Given the description of an element on the screen output the (x, y) to click on. 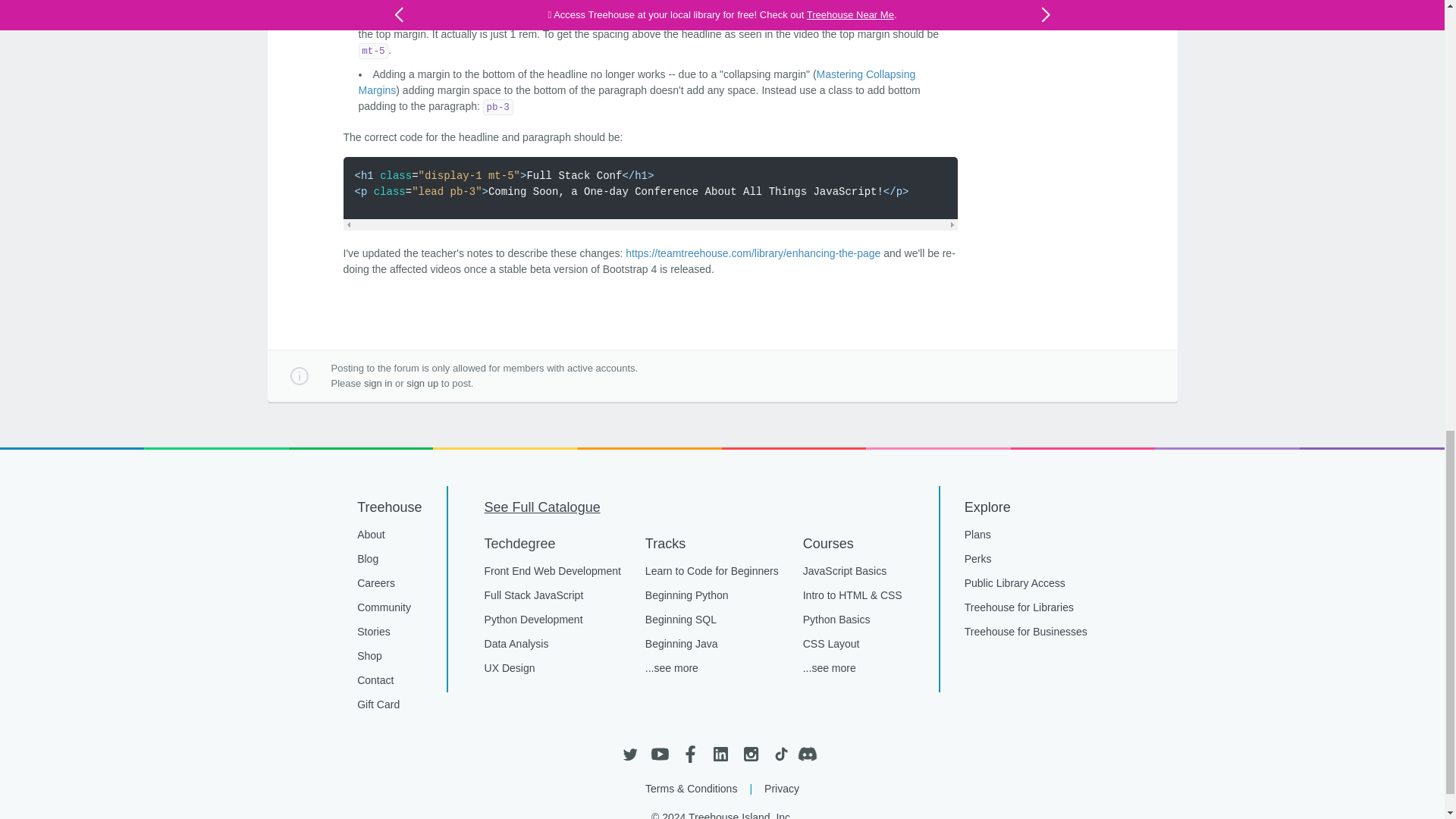
Facebook (690, 754)
Instagram (749, 754)
Discord (810, 754)
LinkedIn (719, 754)
Twitter (628, 754)
LinkedIn (719, 754)
Facebook (690, 754)
YouTube (659, 754)
Twitter (628, 754)
Instagram (749, 754)
